Given the description of an element on the screen output the (x, y) to click on. 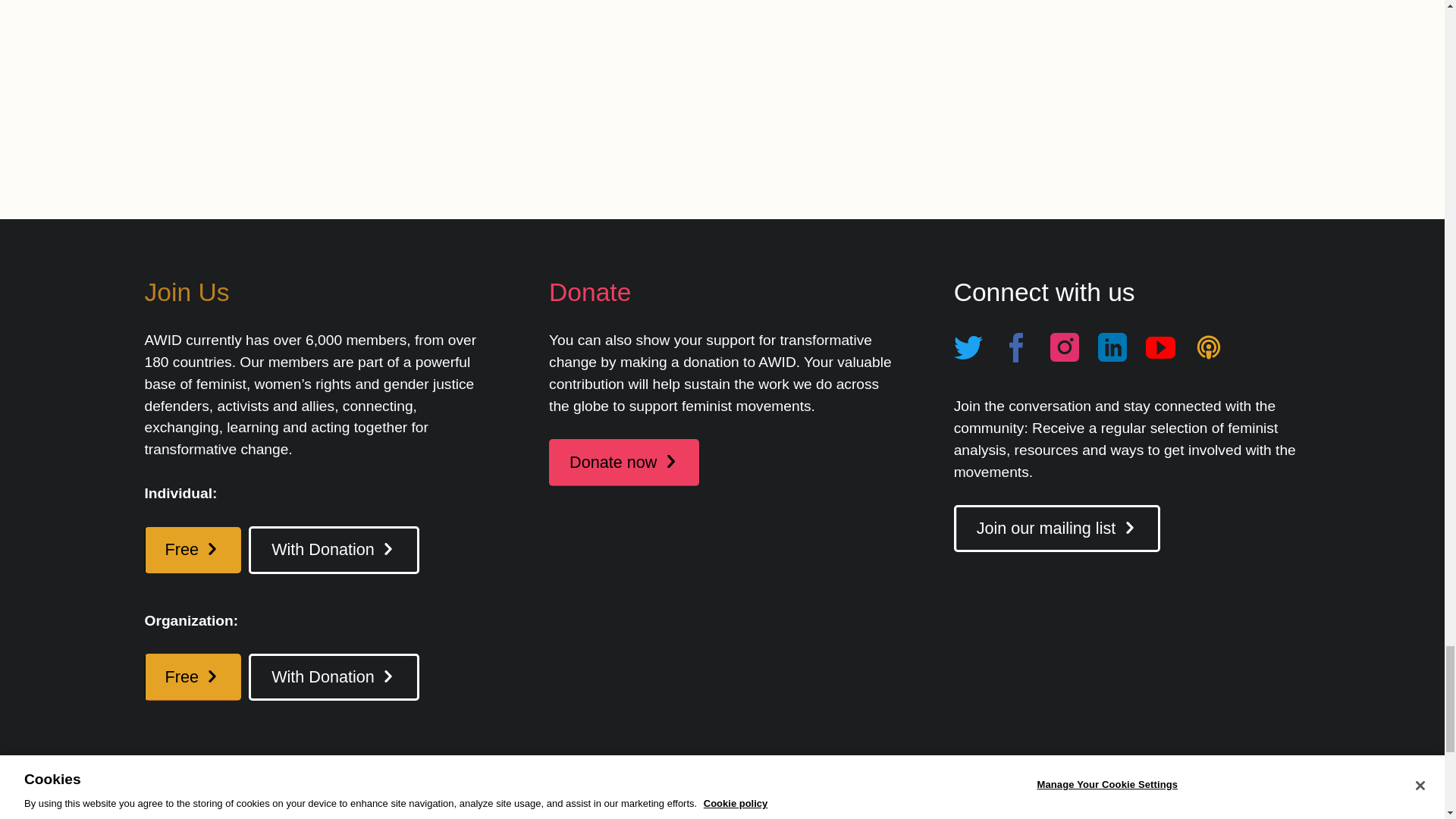
Donate now (623, 462)
Free (192, 677)
Free (192, 550)
With Donation (333, 677)
With Donation (333, 549)
